Given the description of an element on the screen output the (x, y) to click on. 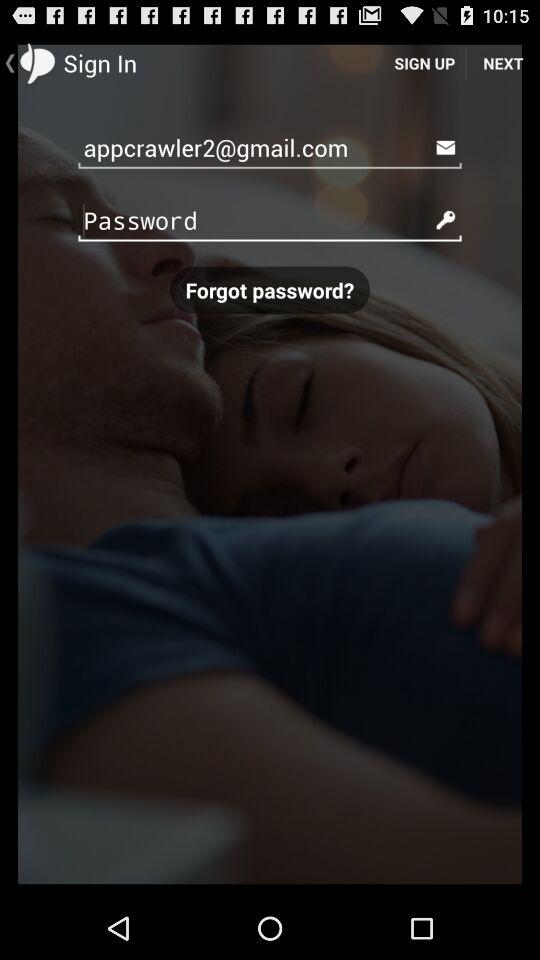
tap the icon above forgot password? (269, 219)
